Given the description of an element on the screen output the (x, y) to click on. 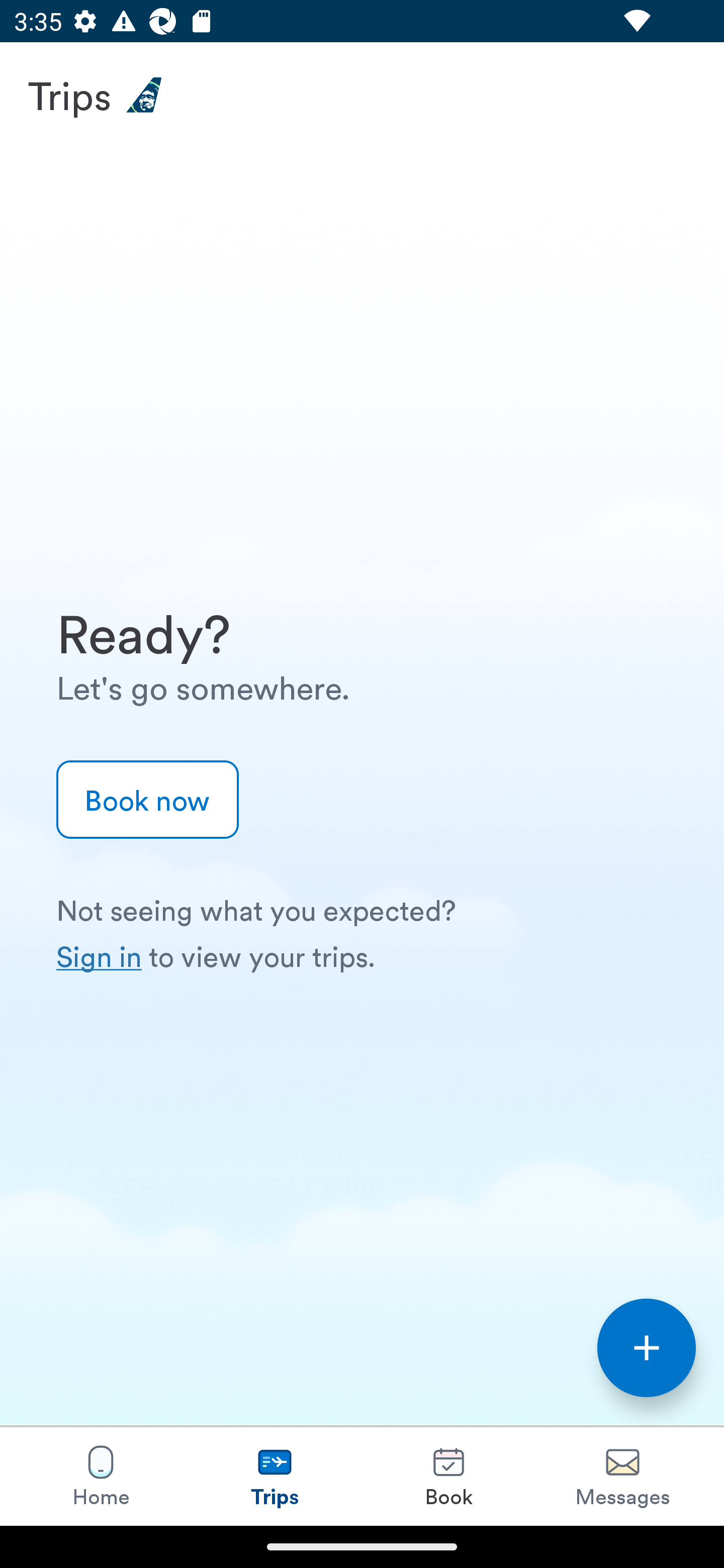
Book now (147, 799)
Home (100, 1475)
Trips (275, 1475)
Book (448, 1475)
Messages (622, 1475)
